Given the description of an element on the screen output the (x, y) to click on. 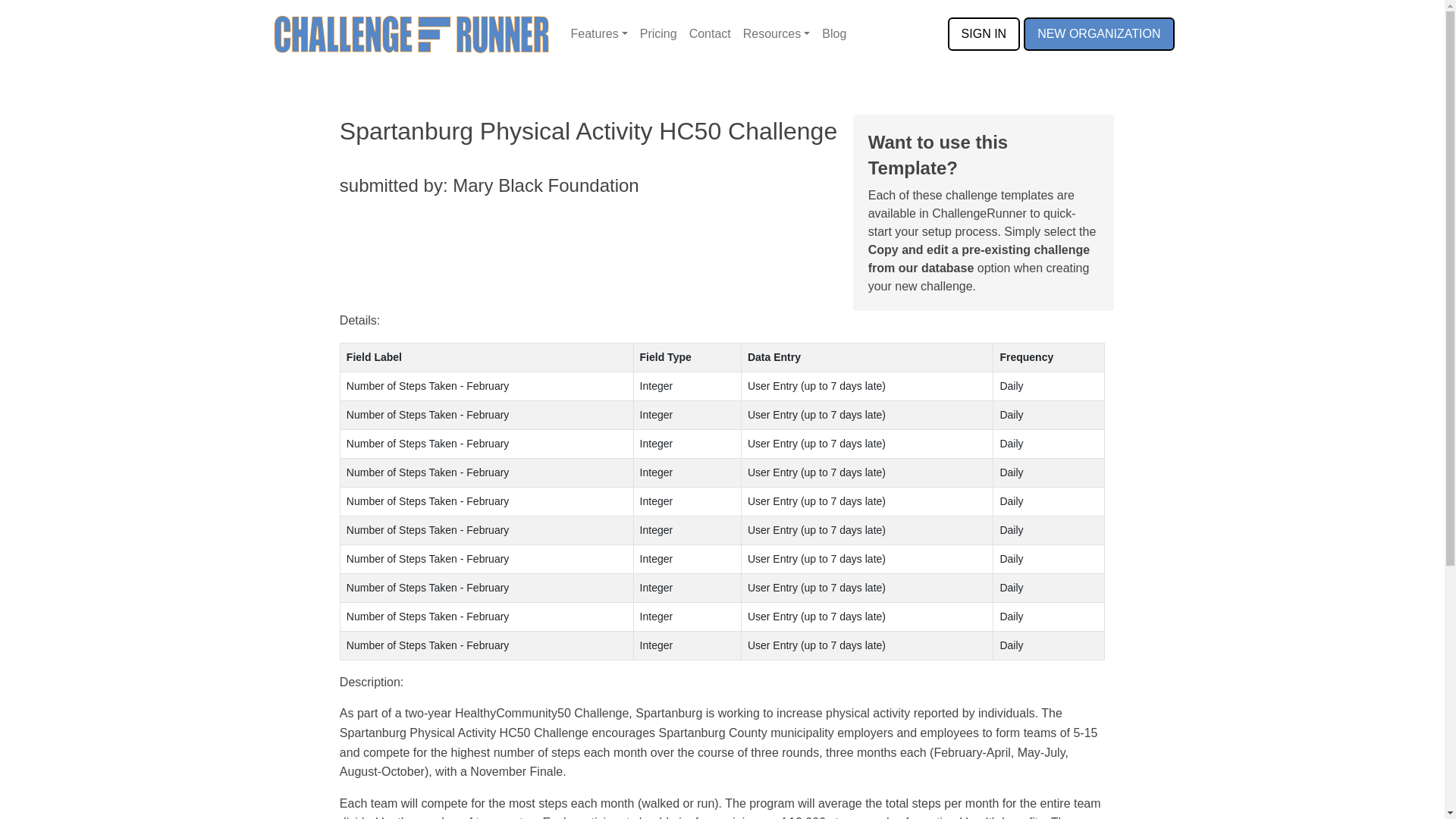
Contact (709, 33)
SIGN IN (983, 33)
Pricing (657, 33)
Features (598, 33)
NEW ORGANIZATION (1098, 33)
Contact Us (709, 33)
Blog (833, 33)
Pricing Page (657, 33)
Resources (776, 33)
